Given the description of an element on the screen output the (x, y) to click on. 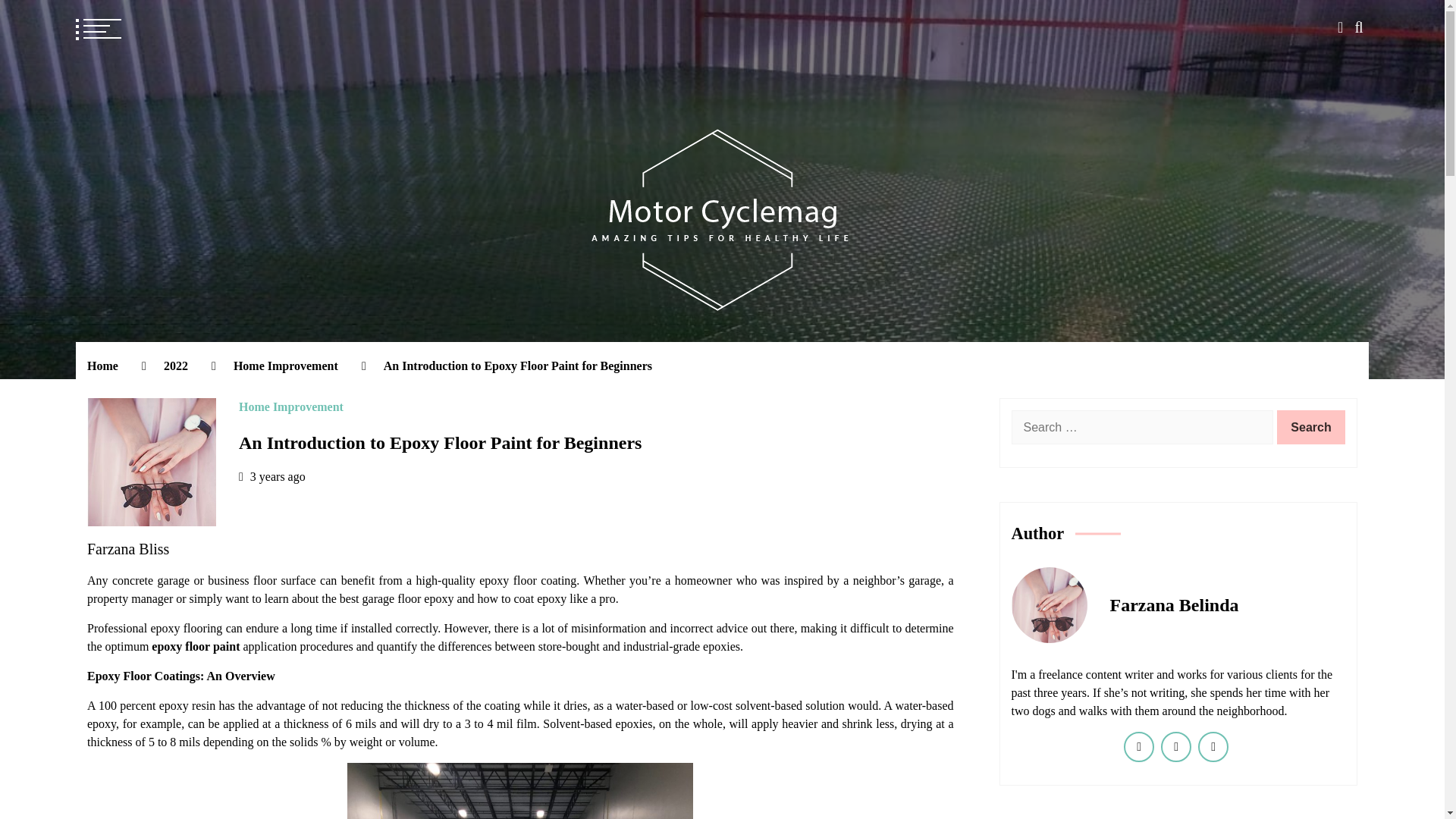
Search (1310, 427)
The Motor Cycle Mag (304, 349)
Home Improvement (290, 407)
An Introduction to Epoxy Floor Paint for Beginners (440, 443)
Home (102, 366)
Home Improvement (284, 366)
Search (1310, 427)
2022 (175, 366)
epoxy floor paint (195, 646)
An Introduction to Epoxy Floor Paint for Beginners (518, 366)
